Given the description of an element on the screen output the (x, y) to click on. 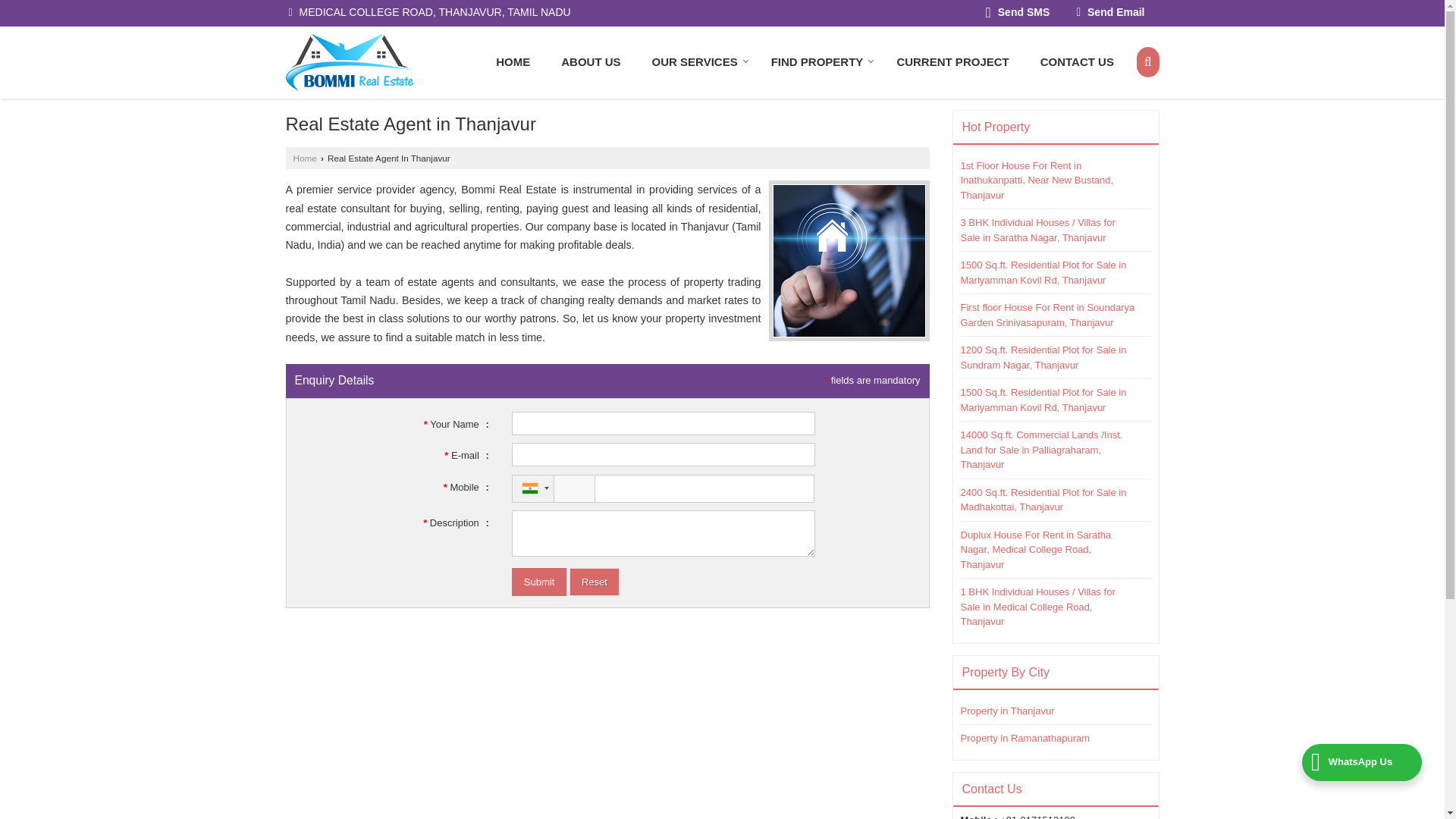
FIND PROPERTY (817, 61)
Our Services (696, 61)
Bommi Real Estate (348, 62)
Send Email (1110, 13)
Submit (539, 582)
ABOUT US (590, 61)
Find Property (817, 61)
Send SMS (1017, 13)
Submit (539, 582)
Home (512, 61)
CURRENT PROJECT (951, 61)
CONTACT US (1077, 61)
OUR SERVICES (696, 61)
Reset (594, 582)
